Given the description of an element on the screen output the (x, y) to click on. 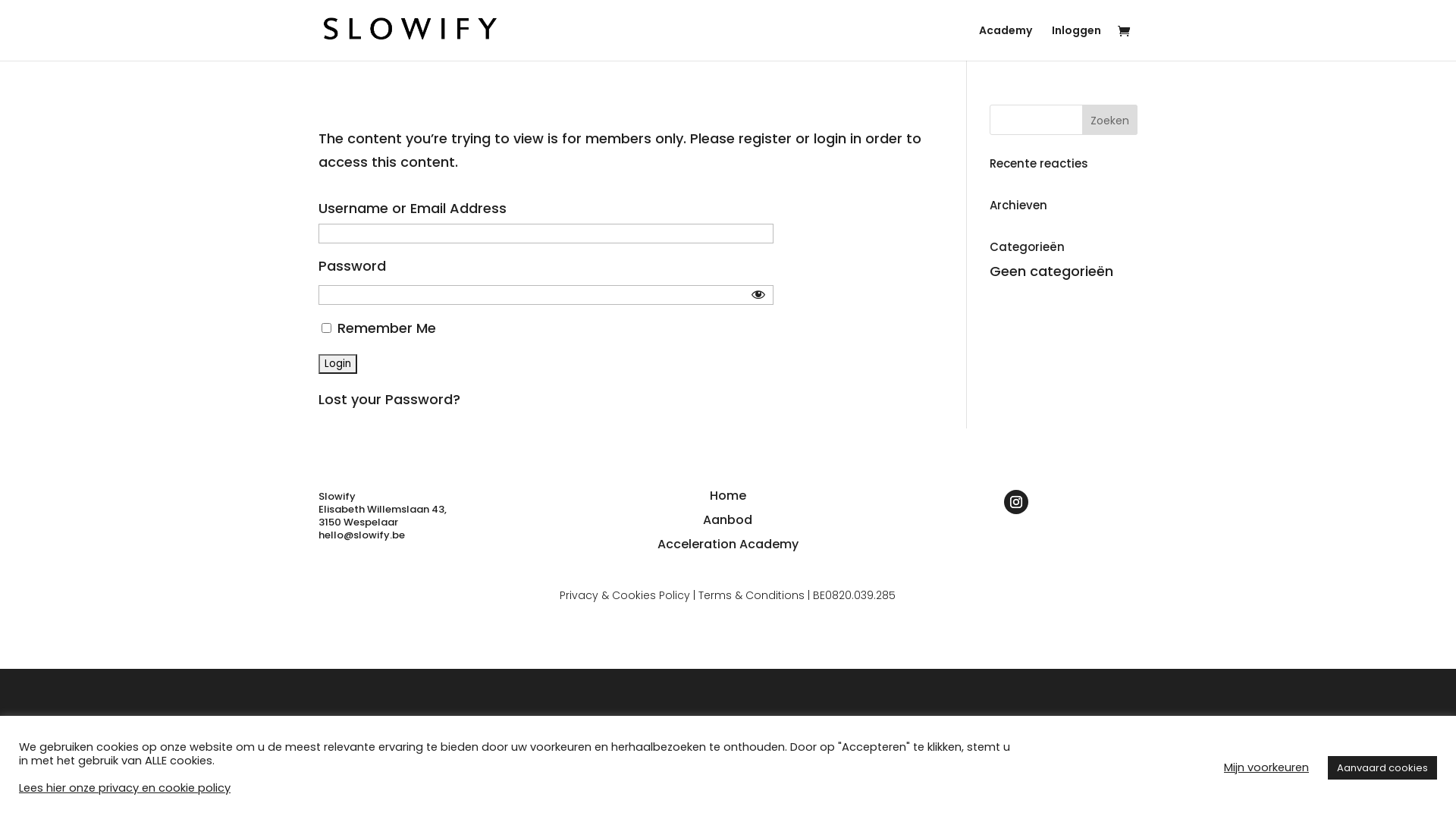
Zoeken Element type: text (1109, 119)
Aanvaard cookies Element type: text (1382, 766)
Lees hier onze privacy en cookie policy Element type: text (124, 787)
Aanbod Element type: text (727, 519)
Inloggen Element type: text (1076, 42)
Privacy & Cookies Policy Element type: text (624, 594)
Volg op Instagram Element type: hover (1016, 501)
Lost your Password? Element type: text (389, 398)
Mijn voorkeuren Element type: text (1265, 767)
Login Element type: text (337, 363)
Acceleration Academy Element type: text (727, 543)
Home Element type: text (727, 495)
Terms & Conditions Element type: text (751, 594)
Academy Element type: text (1005, 42)
